Given the description of an element on the screen output the (x, y) to click on. 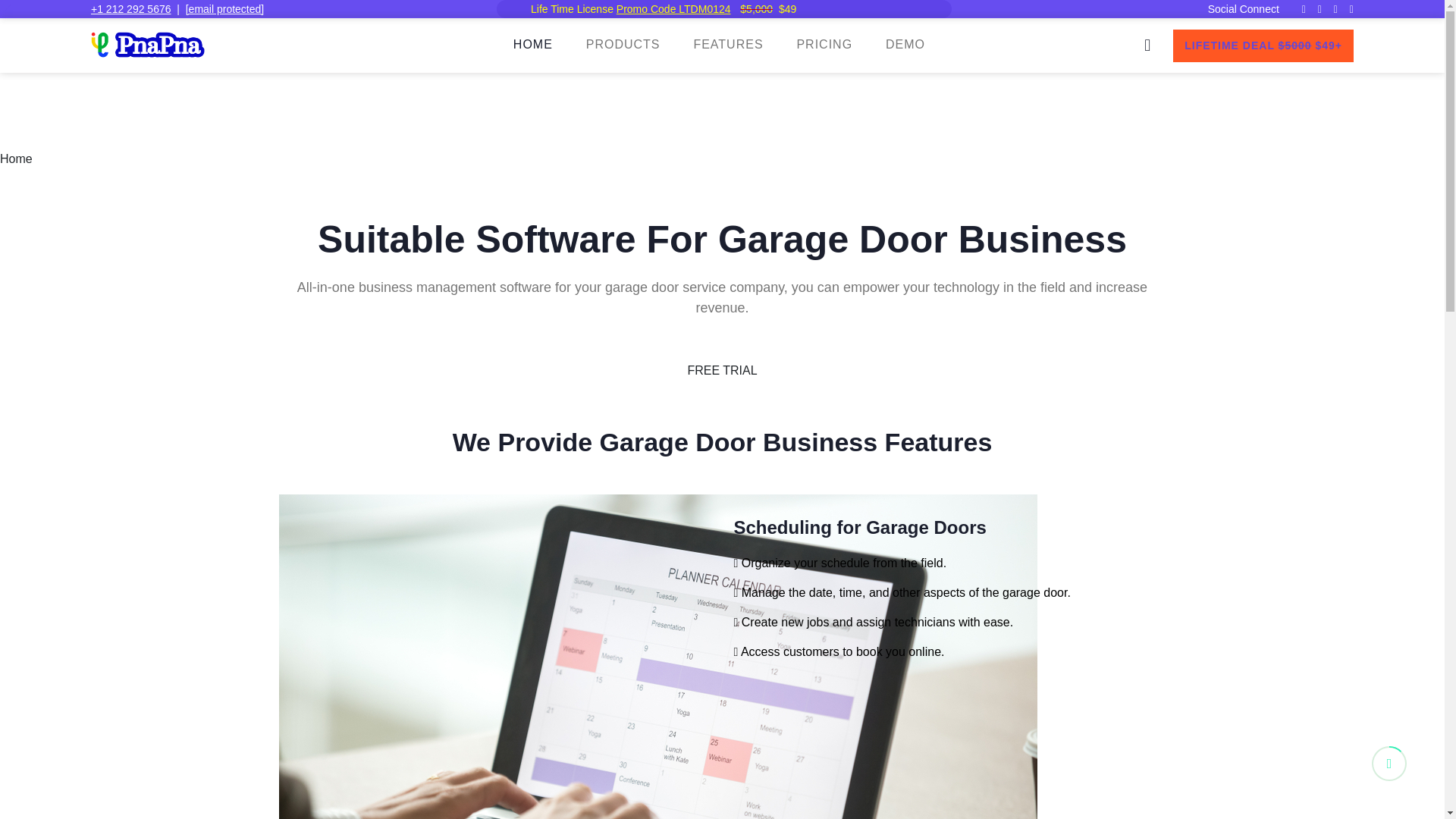
PRODUCTS (623, 44)
PRICING (823, 44)
FEATURES (727, 44)
